Given the description of an element on the screen output the (x, y) to click on. 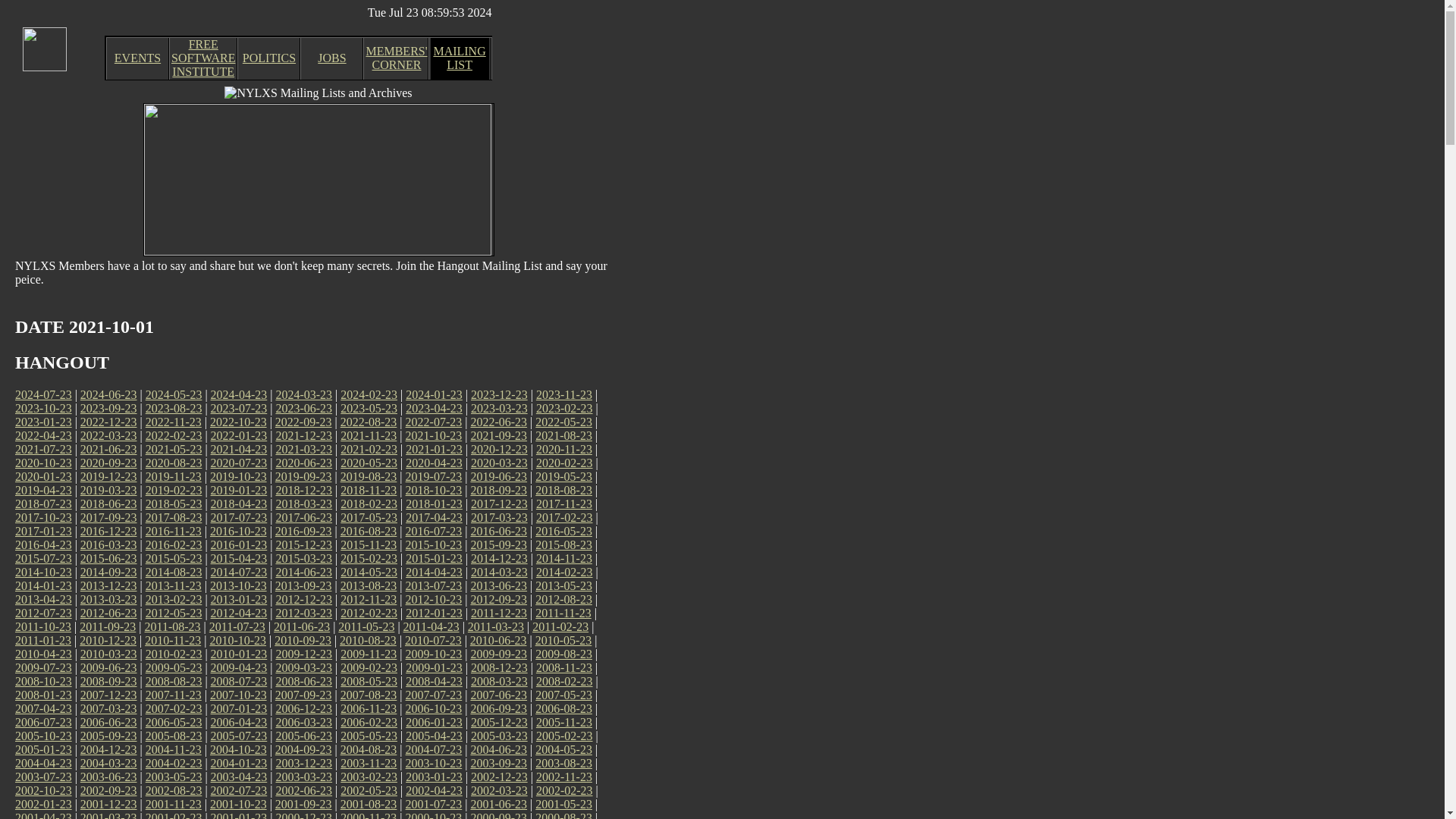
2022-10-23 (237, 421)
2022-04-23 (42, 435)
2021-11-23 (368, 435)
2021-12-23 (303, 435)
2023-08-23 (173, 408)
POLITICS (269, 57)
2024-01-23 (434, 394)
2024-06-23 (108, 394)
2022-07-23 (434, 421)
2023-12-23 (498, 394)
2023-06-23 (303, 408)
2024-02-23 (368, 394)
2023-04-23 (434, 408)
2023-05-23 (368, 408)
2022-09-23 (303, 421)
